Given the description of an element on the screen output the (x, y) to click on. 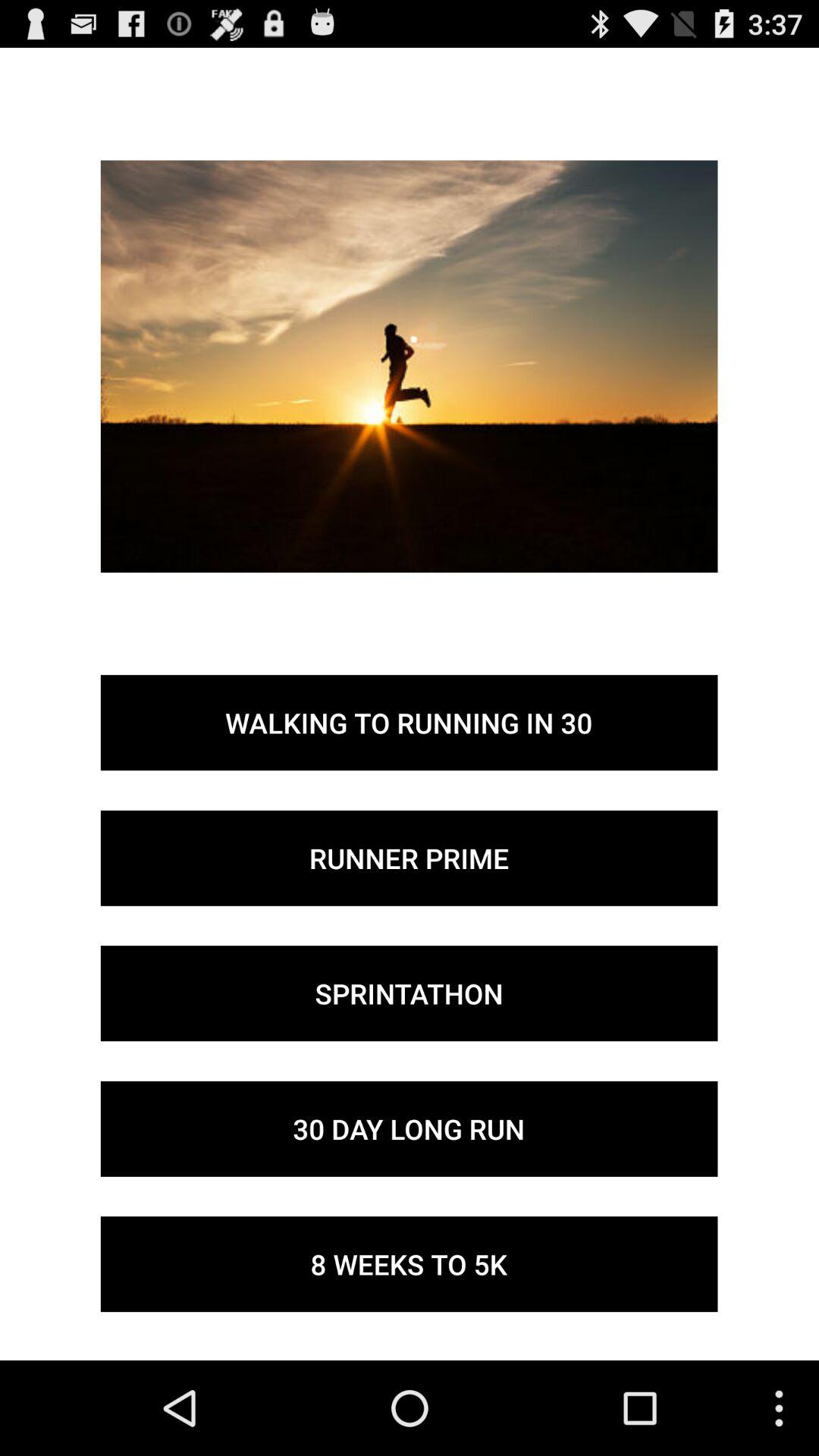
turn off the 30 day long icon (408, 1128)
